Given the description of an element on the screen output the (x, y) to click on. 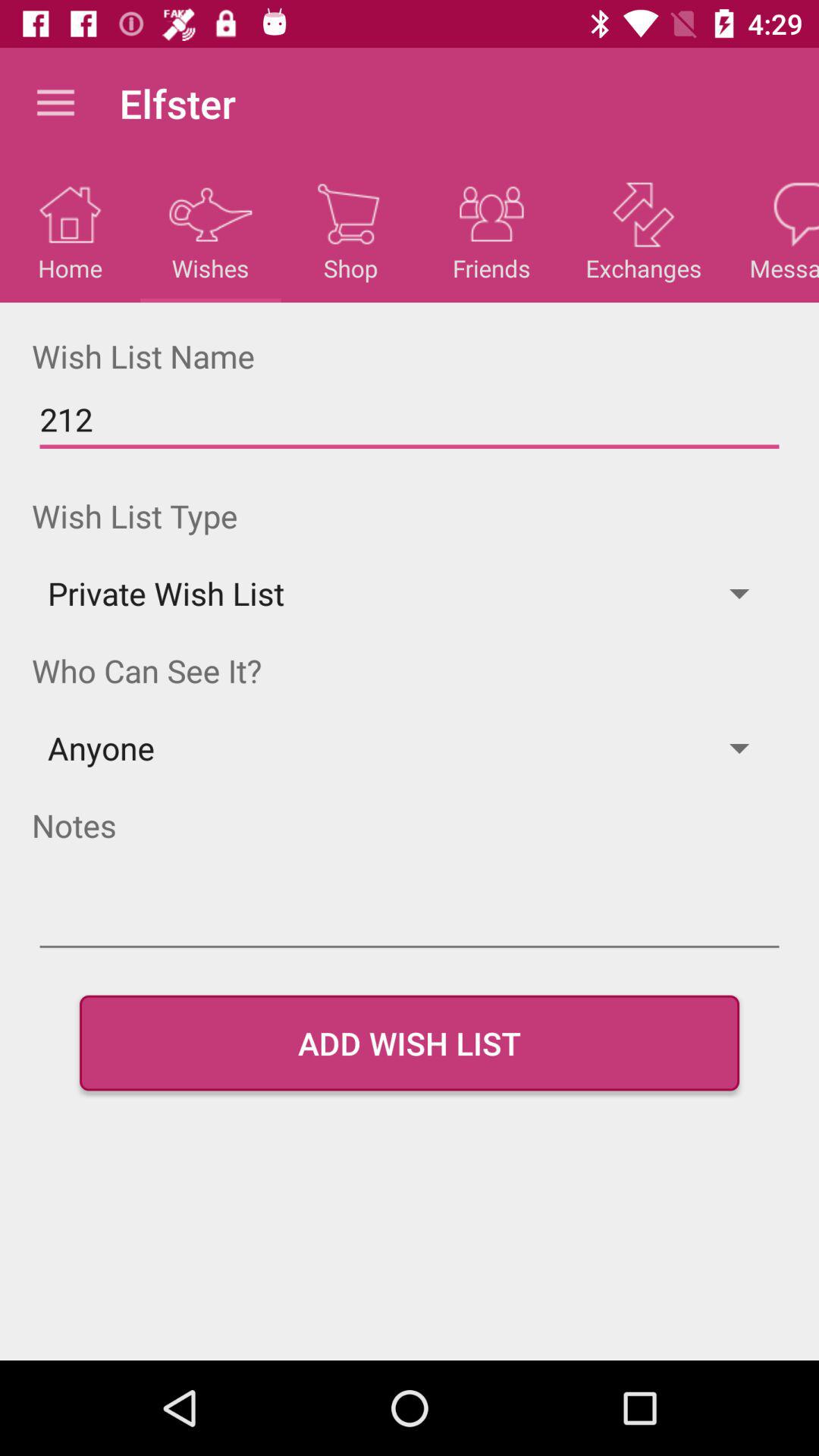
choose item above home icon (55, 103)
